Given the description of an element on the screen output the (x, y) to click on. 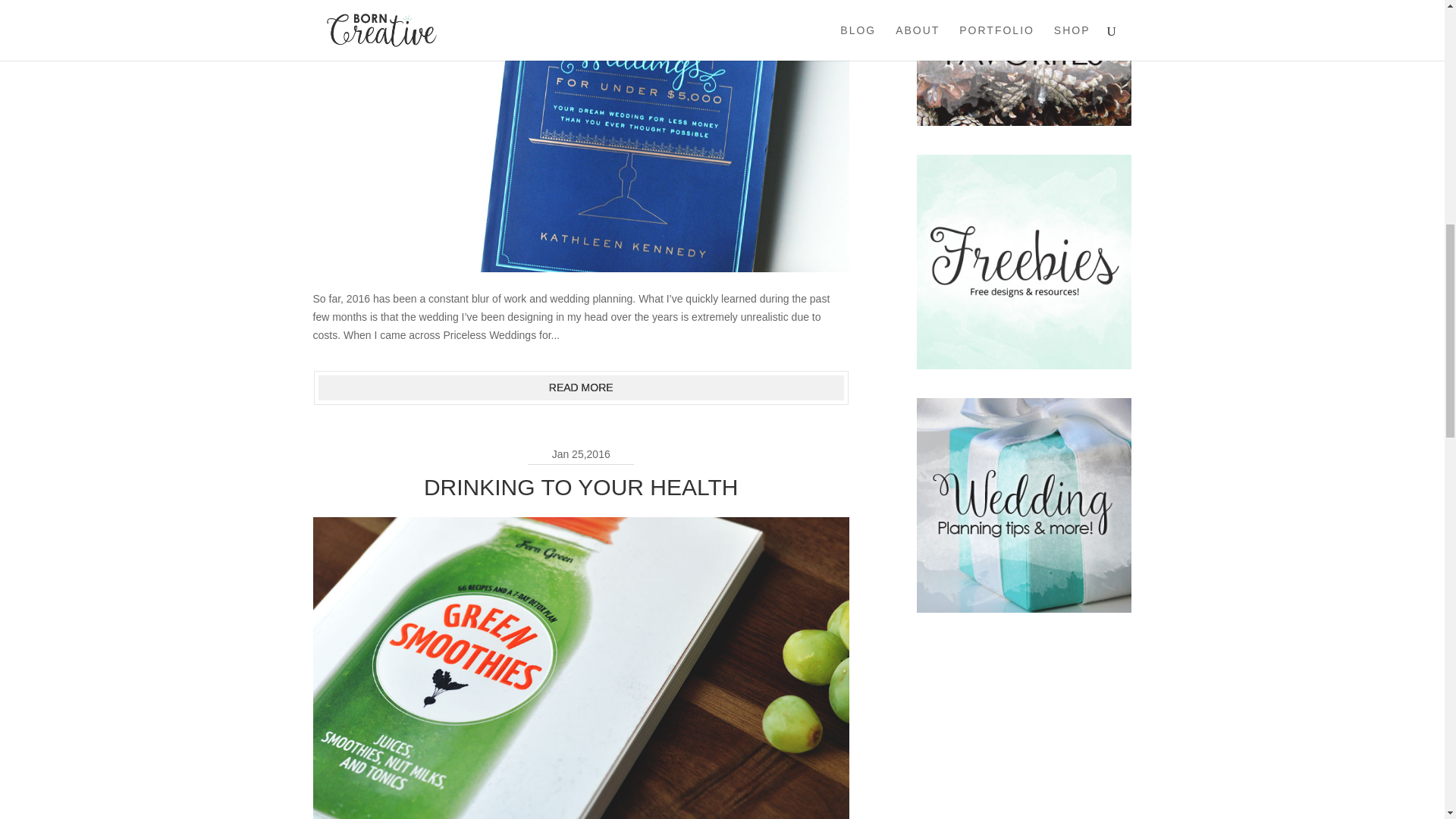
Advertisement (1024, 730)
READ MORE (581, 388)
